Given the description of an element on the screen output the (x, y) to click on. 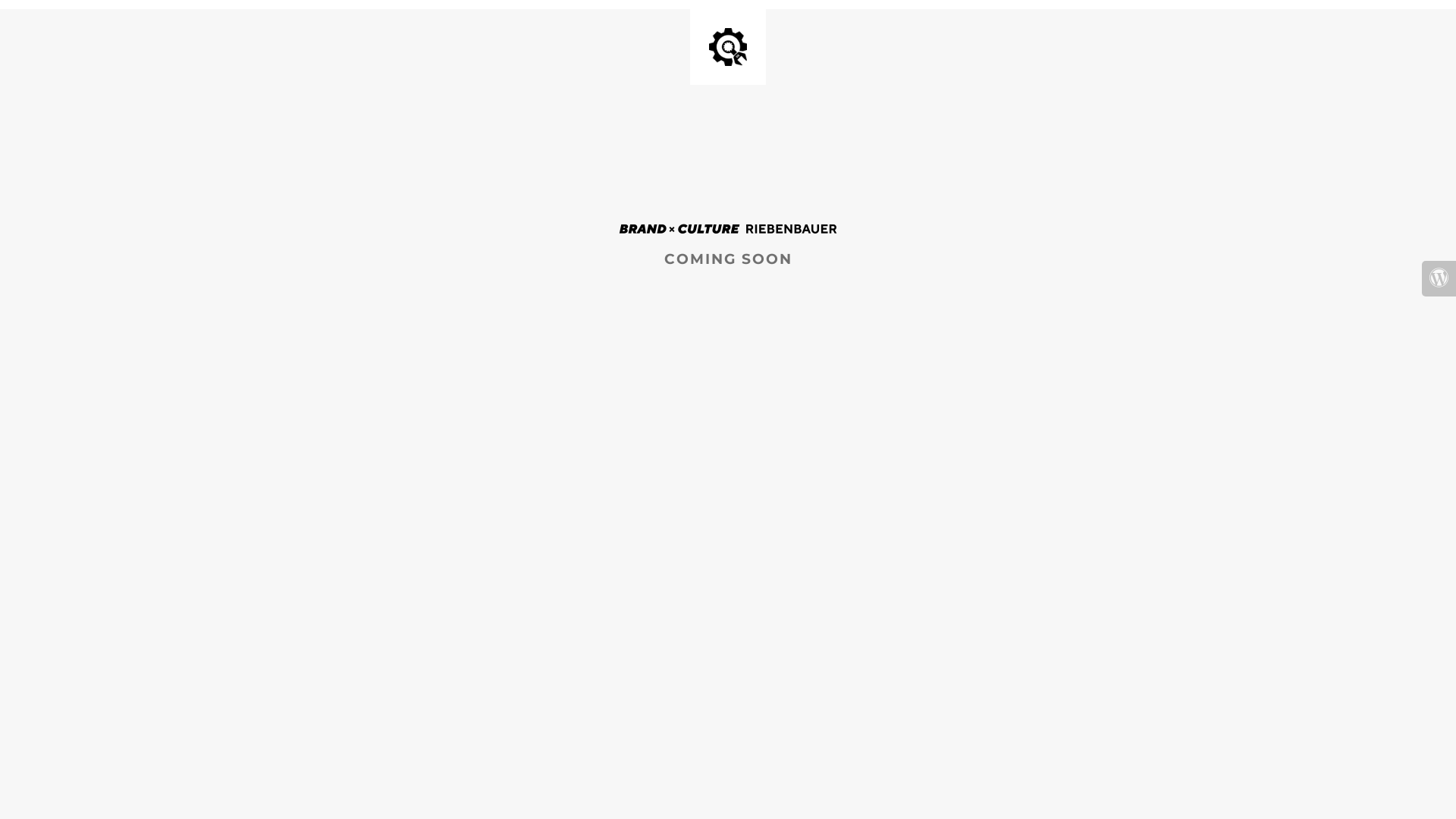
Site is Under Construction Element type: hover (727, 46)
